Given the description of an element on the screen output the (x, y) to click on. 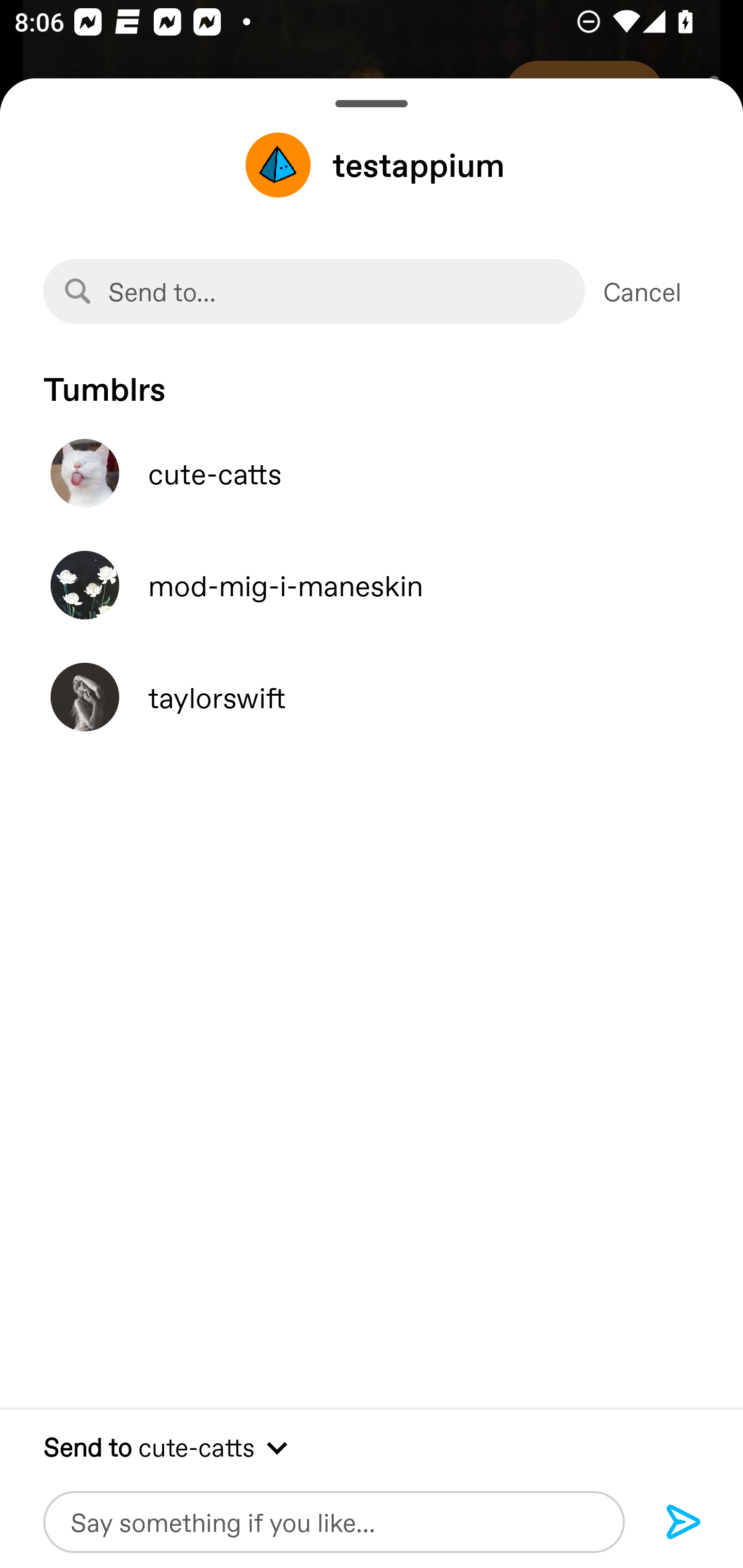
testappium (371, 164)
Cancel (642, 291)
Send to… (314, 291)
Tumblrs (371, 379)
cute-catts (371, 473)
mod-mig-i-maneskin (371, 585)
taylorswift (371, 696)
Send to cute-catts (371, 1446)
Send (683, 1522)
Say something if you like… (333, 1521)
